Given the description of an element on the screen output the (x, y) to click on. 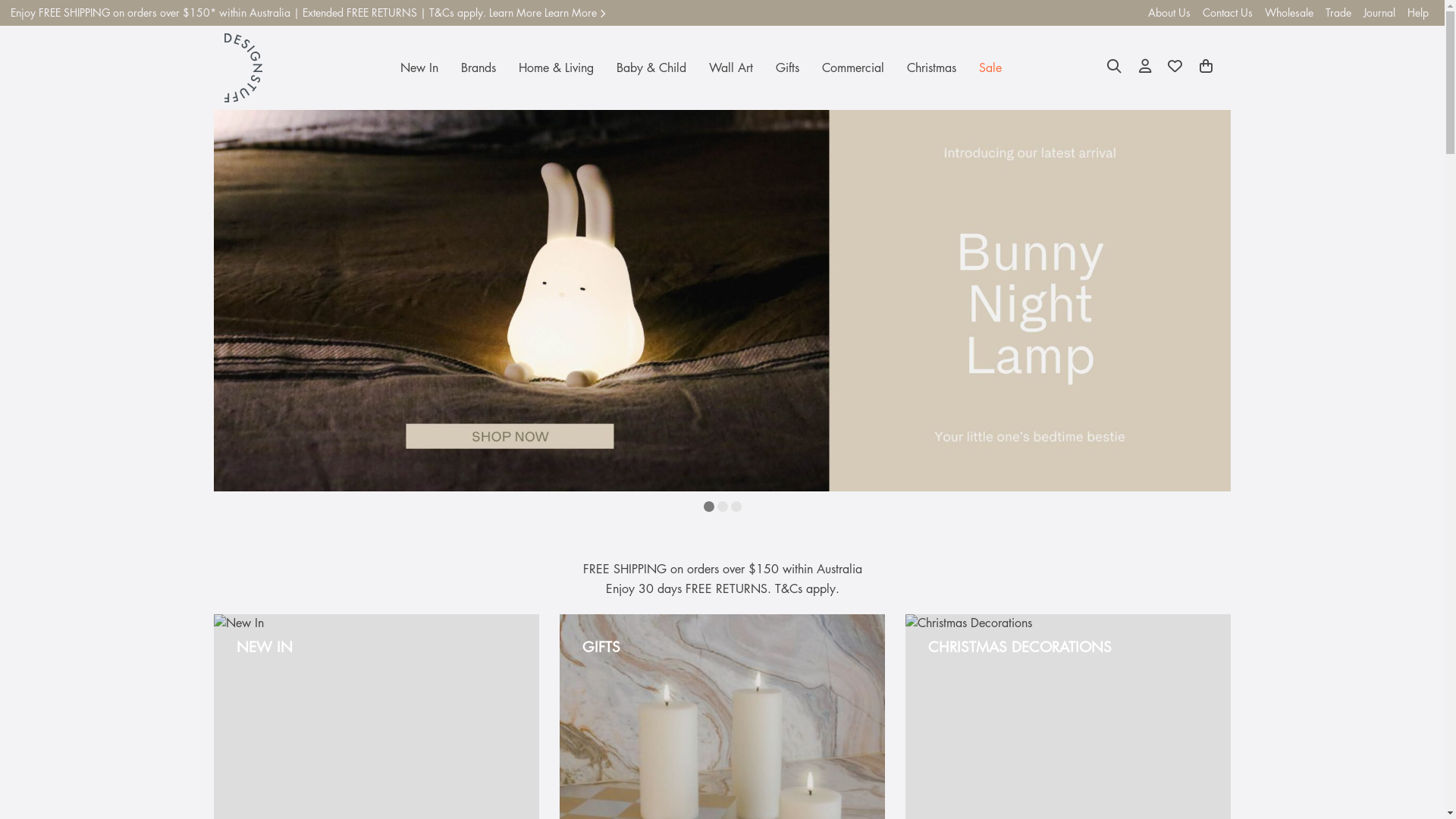
View my bag menu Element type: hover (1205, 67)
About Us Element type: text (1169, 12)
Commercial Element type: text (852, 67)
Wholesale Element type: text (1288, 12)
View account menu Element type: hover (1144, 67)
Learn More  Element type: text (574, 12)
Contact Us Element type: text (1227, 12)
Christmas Element type: text (931, 67)
Journal Element type: text (1379, 12)
Home & Living Element type: text (556, 67)
Baby & Child Element type: text (651, 67)
Gifts Element type: text (787, 67)
Trade Element type: text (1338, 12)
Sale Element type: text (990, 67)
Wall Art Element type: text (730, 67)
View wishlists menu Element type: hover (1175, 67)
Search for a product Element type: hover (1114, 67)
T&Cs apply. Element type: text (807, 588)
Brands Element type: text (478, 67)
New In Element type: text (419, 67)
Help Element type: text (1417, 12)
